Given the description of an element on the screen output the (x, y) to click on. 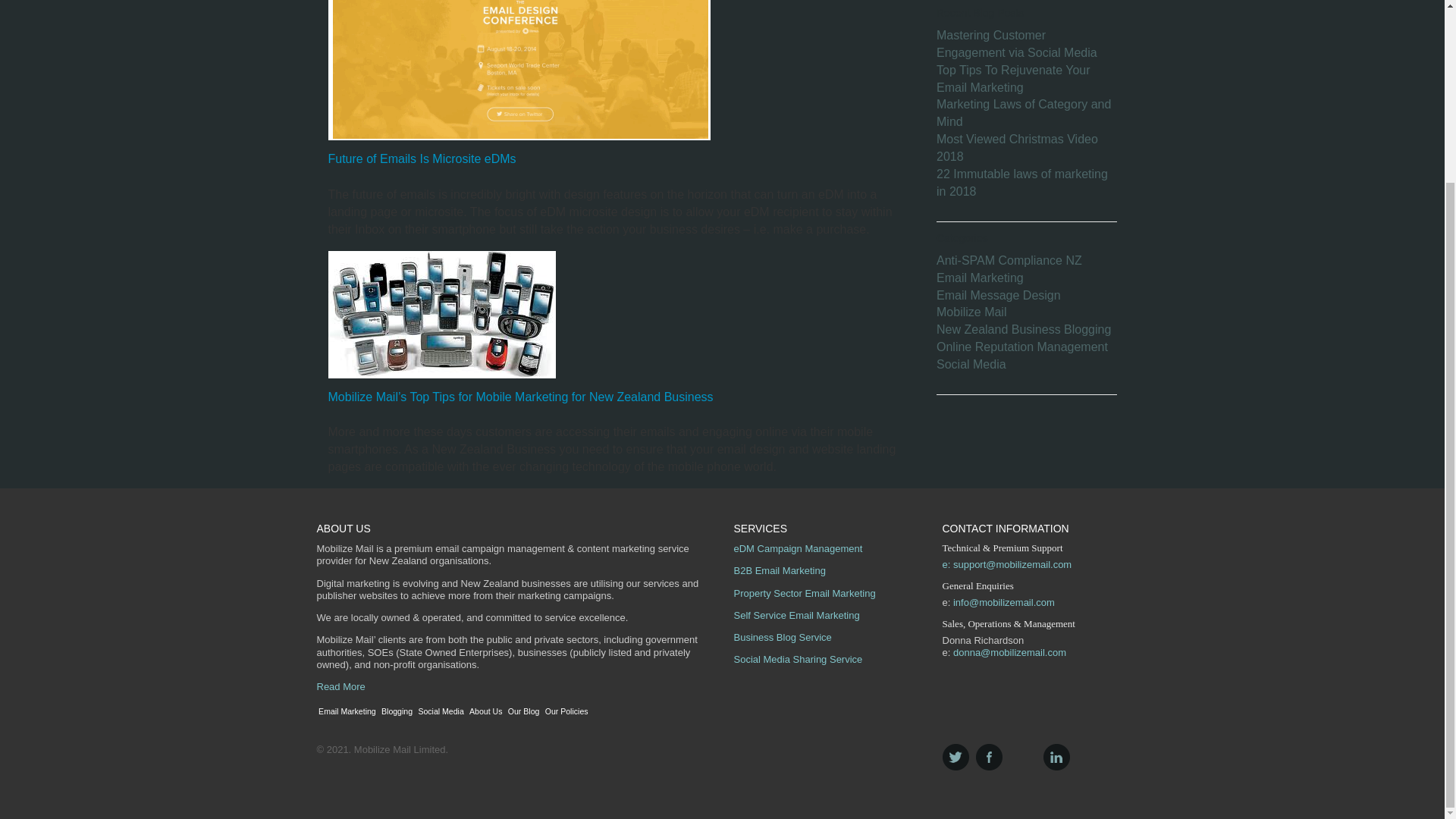
Social Media (971, 364)
Email Marketing (979, 277)
Our Blog (524, 710)
eDM Campaign Management (798, 548)
Blogging (397, 710)
Read More (341, 686)
B2B Email Marketing (779, 570)
Marketing Laws of Category and Mind (1023, 112)
Most Viewed Christmas Video 2018 (1016, 147)
New Zealand Business Blogging (1023, 328)
